Given the description of an element on the screen output the (x, y) to click on. 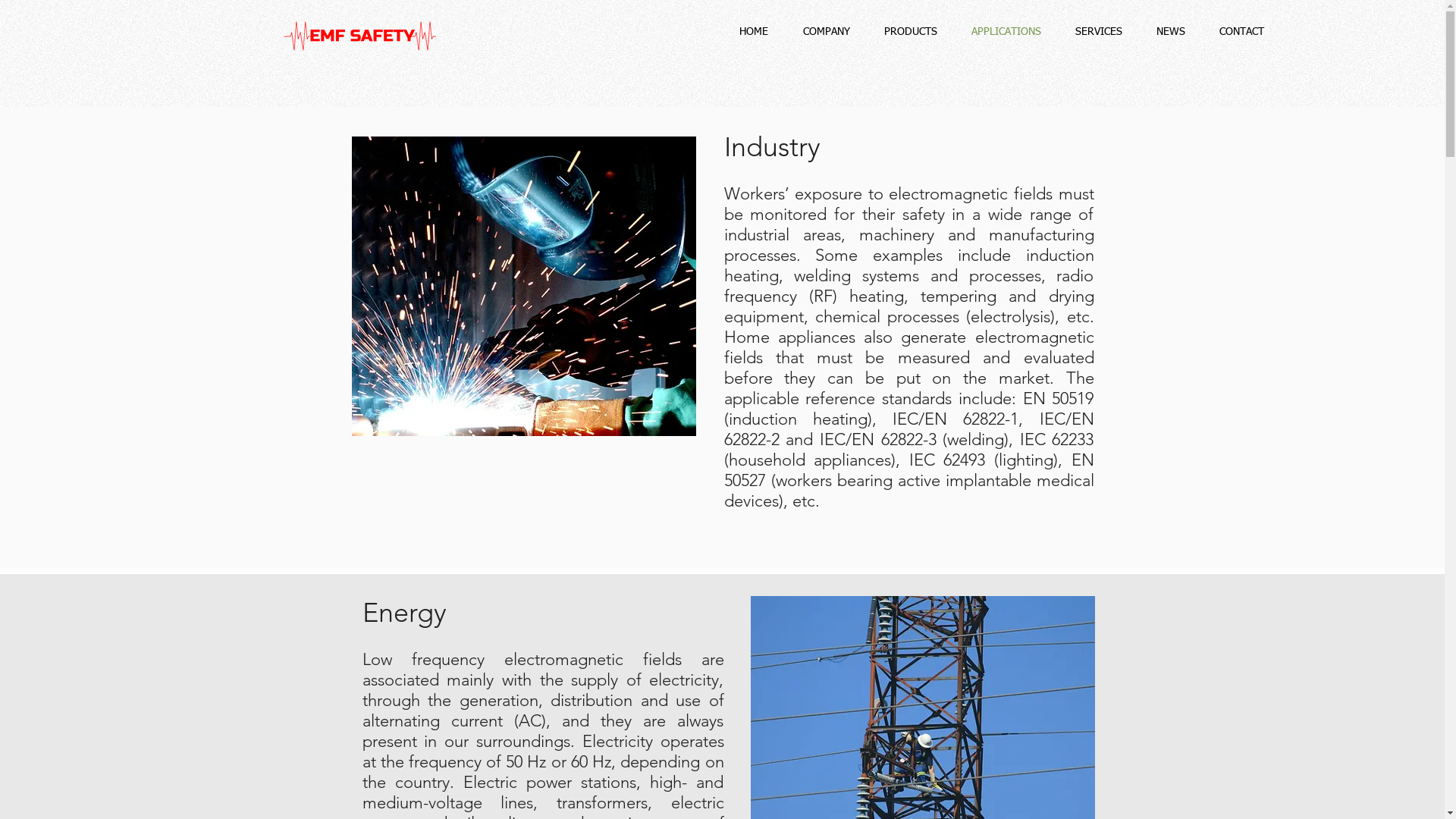
APPLICATIONS Element type: text (1005, 31)
CONTACT Element type: text (1240, 31)
HOME Element type: text (753, 31)
SERVICES Element type: text (1098, 31)
COMPANY Element type: text (825, 31)
NEWS Element type: text (1170, 31)
